Given the description of an element on the screen output the (x, y) to click on. 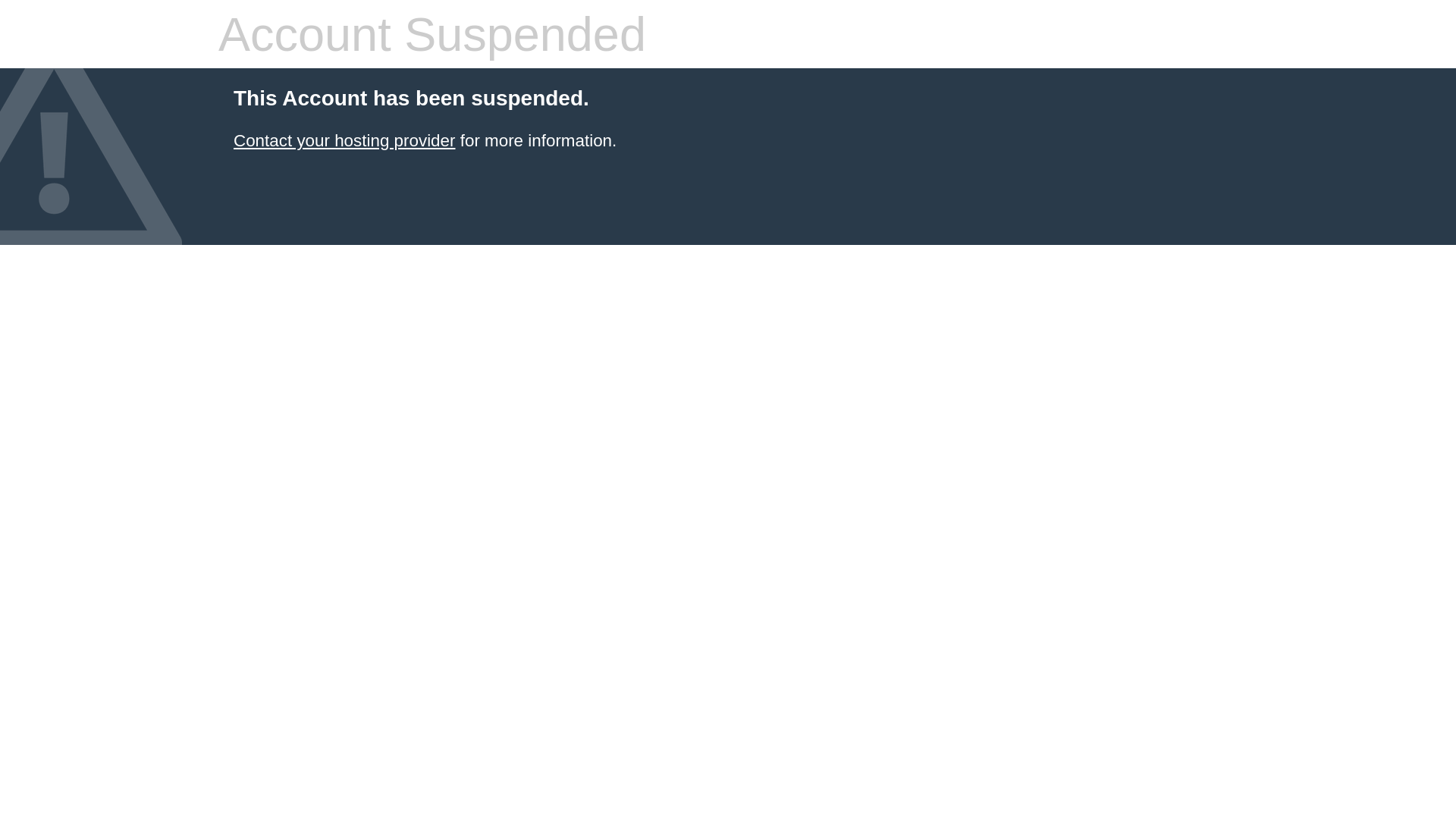
Contact your hosting provider Element type: text (344, 140)
